Given the description of an element on the screen output the (x, y) to click on. 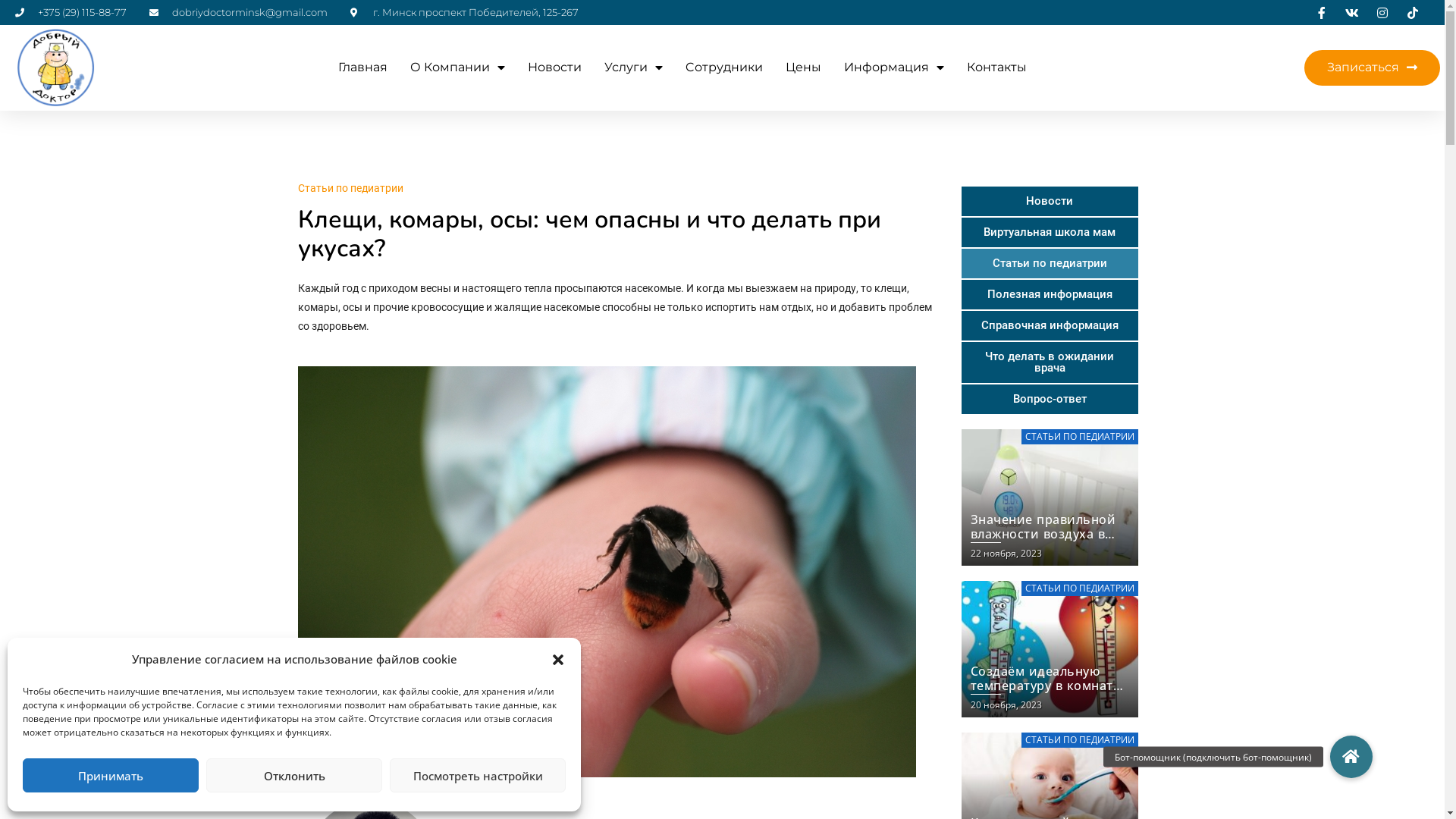
dobriydoctorminsk@gmail.com Element type: text (238, 12)
+375 (29) 115-88-77 Element type: text (70, 12)
